Given the description of an element on the screen output the (x, y) to click on. 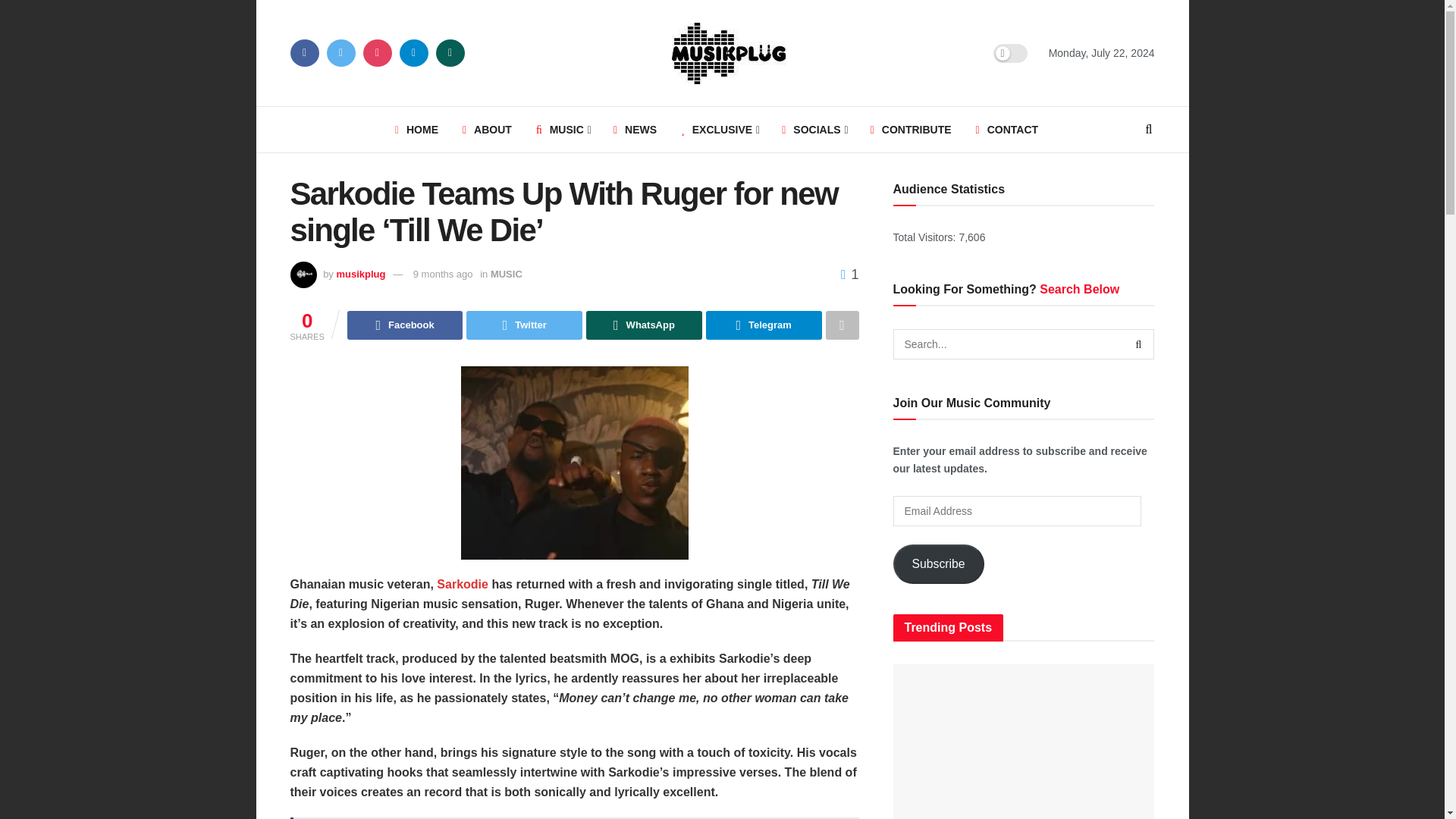
ABOUT (486, 129)
MUSIC (562, 129)
CONTRIBUTE (911, 129)
CONTACT (1007, 129)
EXCLUSIVE (719, 129)
NEWS (634, 129)
HOME (415, 129)
SOCIALS (813, 129)
